Given the description of an element on the screen output the (x, y) to click on. 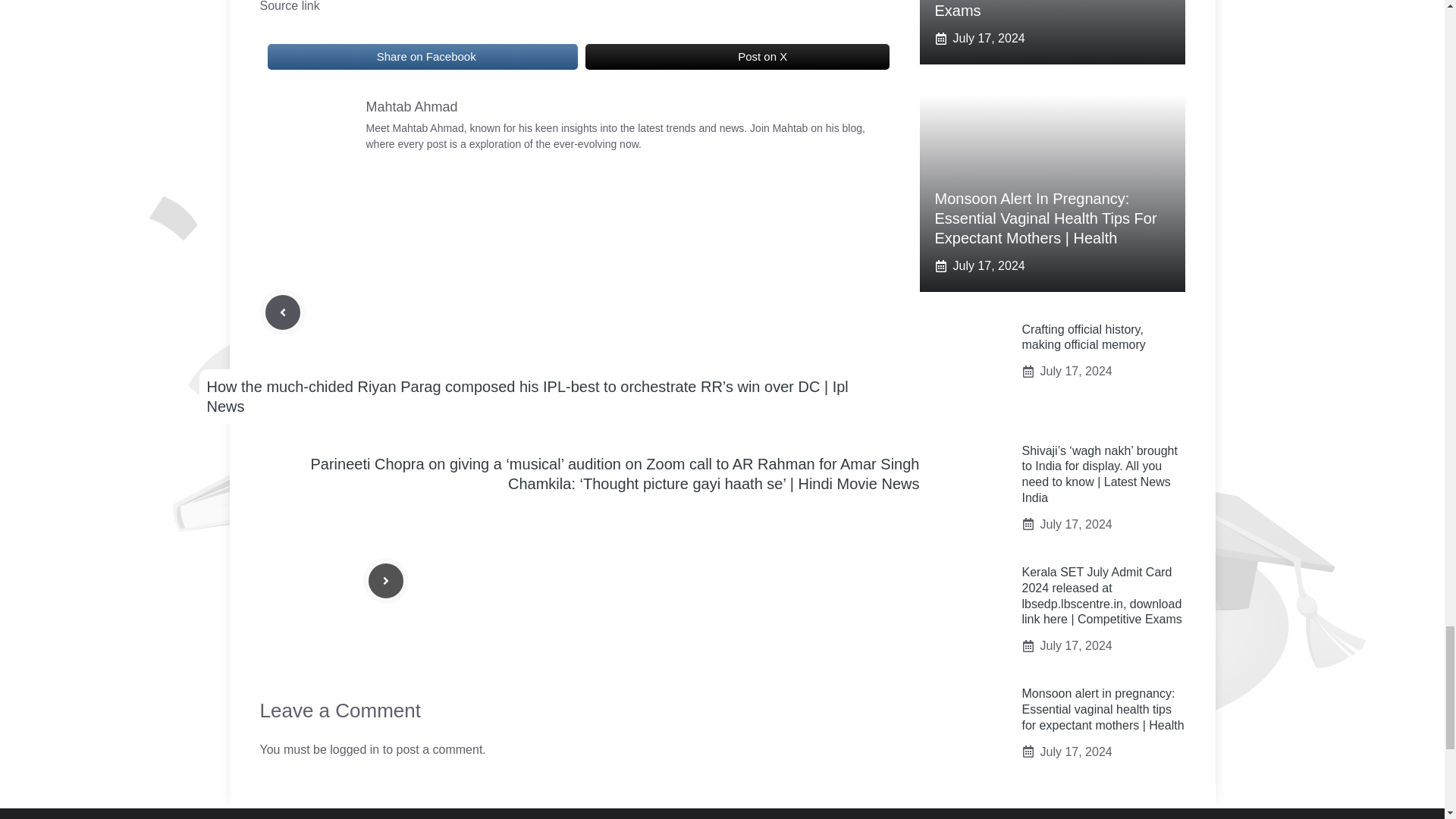
Share on Facebook (421, 56)
Post on X (737, 56)
Source link (288, 6)
logged in (354, 748)
Mahtab Ahmad (411, 106)
